Given the description of an element on the screen output the (x, y) to click on. 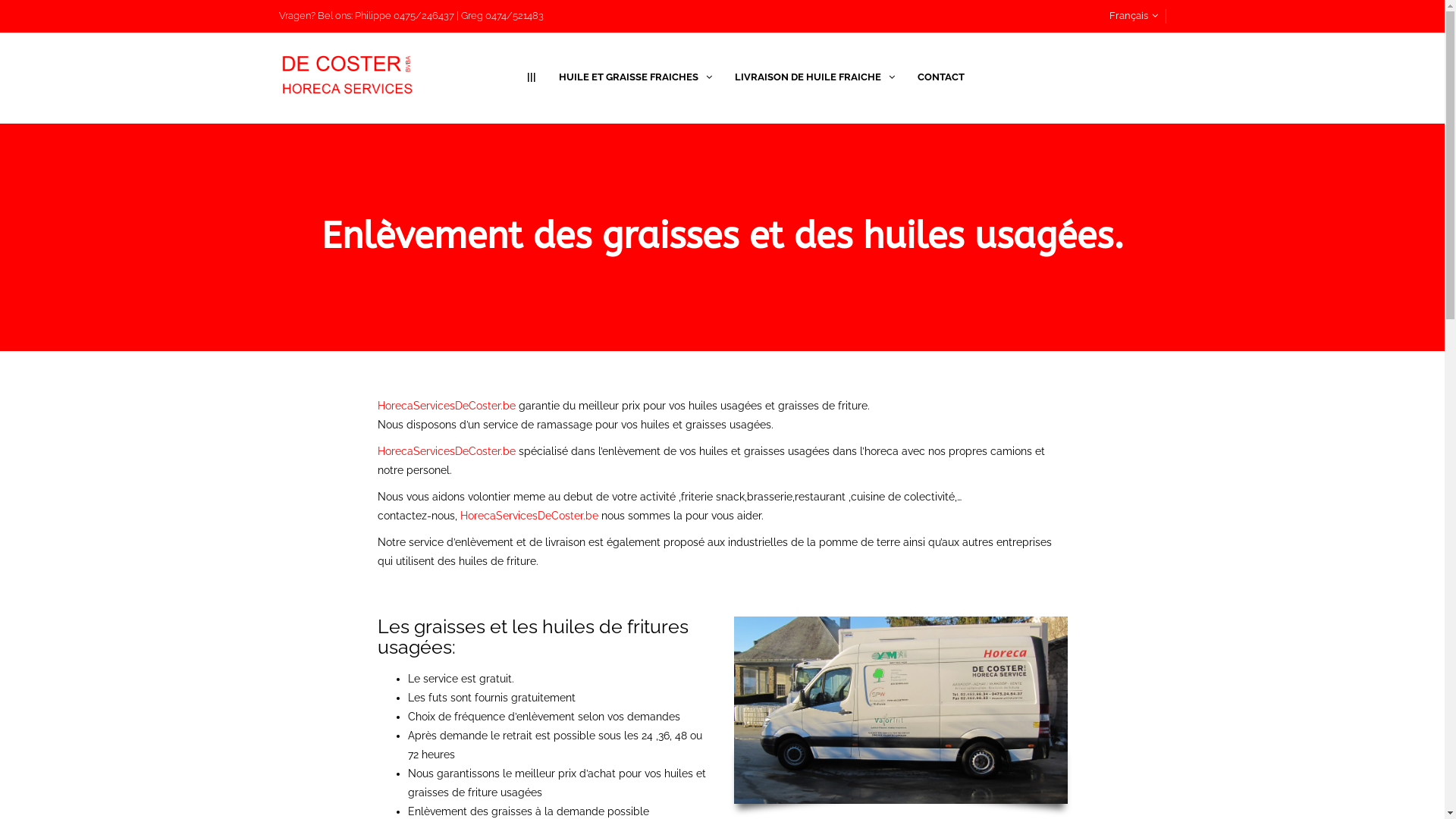
LIVRAISON DE HUILE FRAICHE Element type: text (814, 77)
Philippe 0475/246437 Element type: text (404, 15)
||| Element type: text (531, 77)
HUILE ET GRAISSE FRAICHES Element type: text (635, 77)
HorecaServicesDeCoster.be Element type: text (446, 451)
HorecaServicesDeCoster.be Element type: text (528, 515)
HorecaServicesDeCoster.be Element type: text (446, 405)
CONTACT Element type: text (940, 77)
Greg 0474/521483 Element type: text (502, 15)
